Given the description of an element on the screen output the (x, y) to click on. 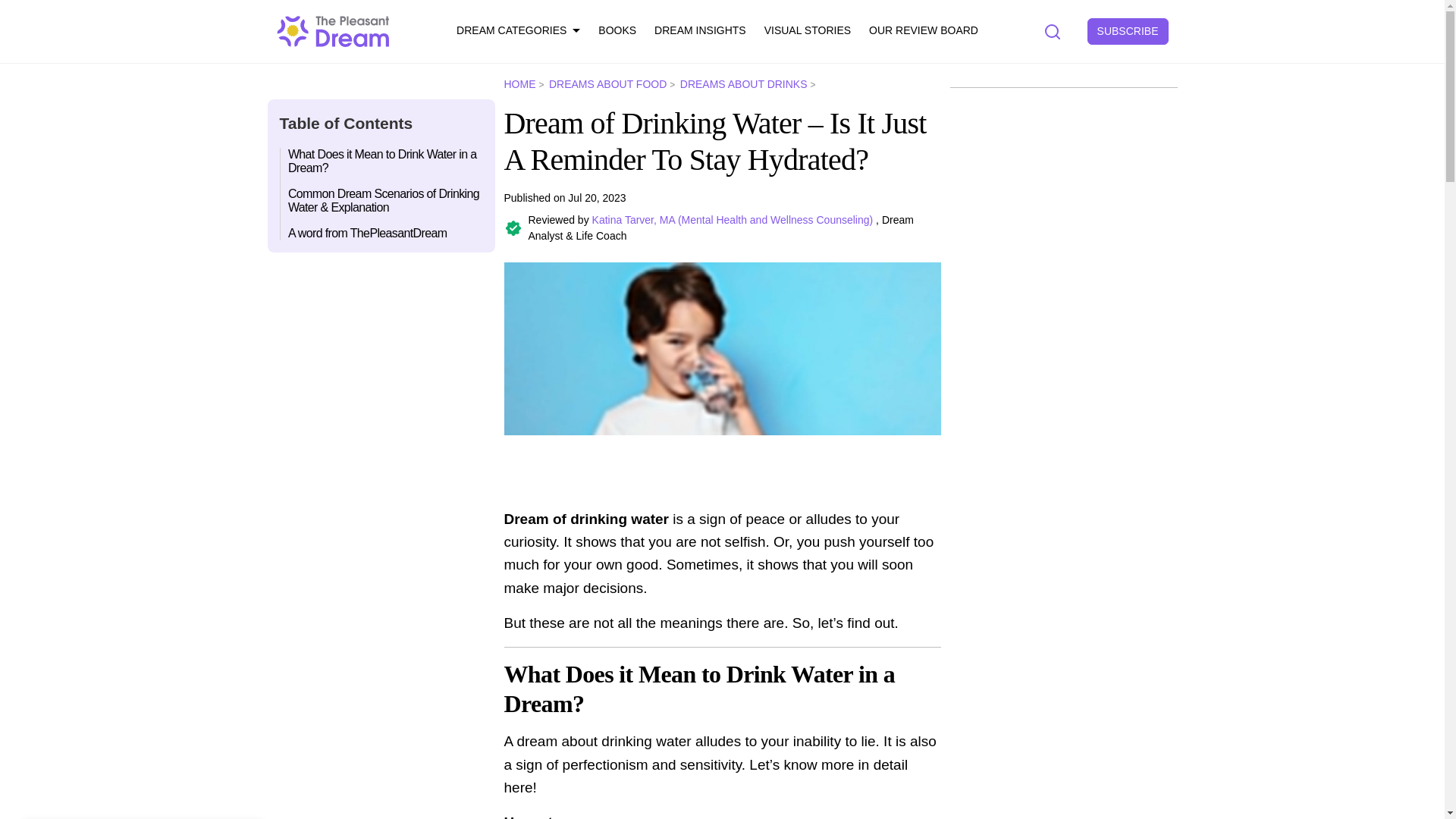
A word from ThePleasantDream (382, 229)
DREAMS ABOUT FOOD (612, 83)
VISUAL STORIES (807, 31)
DREAM INSIGHTS (699, 31)
HOME (523, 83)
OUR REVIEW BOARD (923, 31)
SUBSCRIBE (1128, 31)
DREAM CATEGORIES (518, 31)
ThePleasantDream (333, 30)
BOOKS (617, 31)
What Does it Mean to Drink Water in a Dream? (382, 163)
DREAMS ABOUT DRINKS (747, 83)
